Given the description of an element on the screen output the (x, y) to click on. 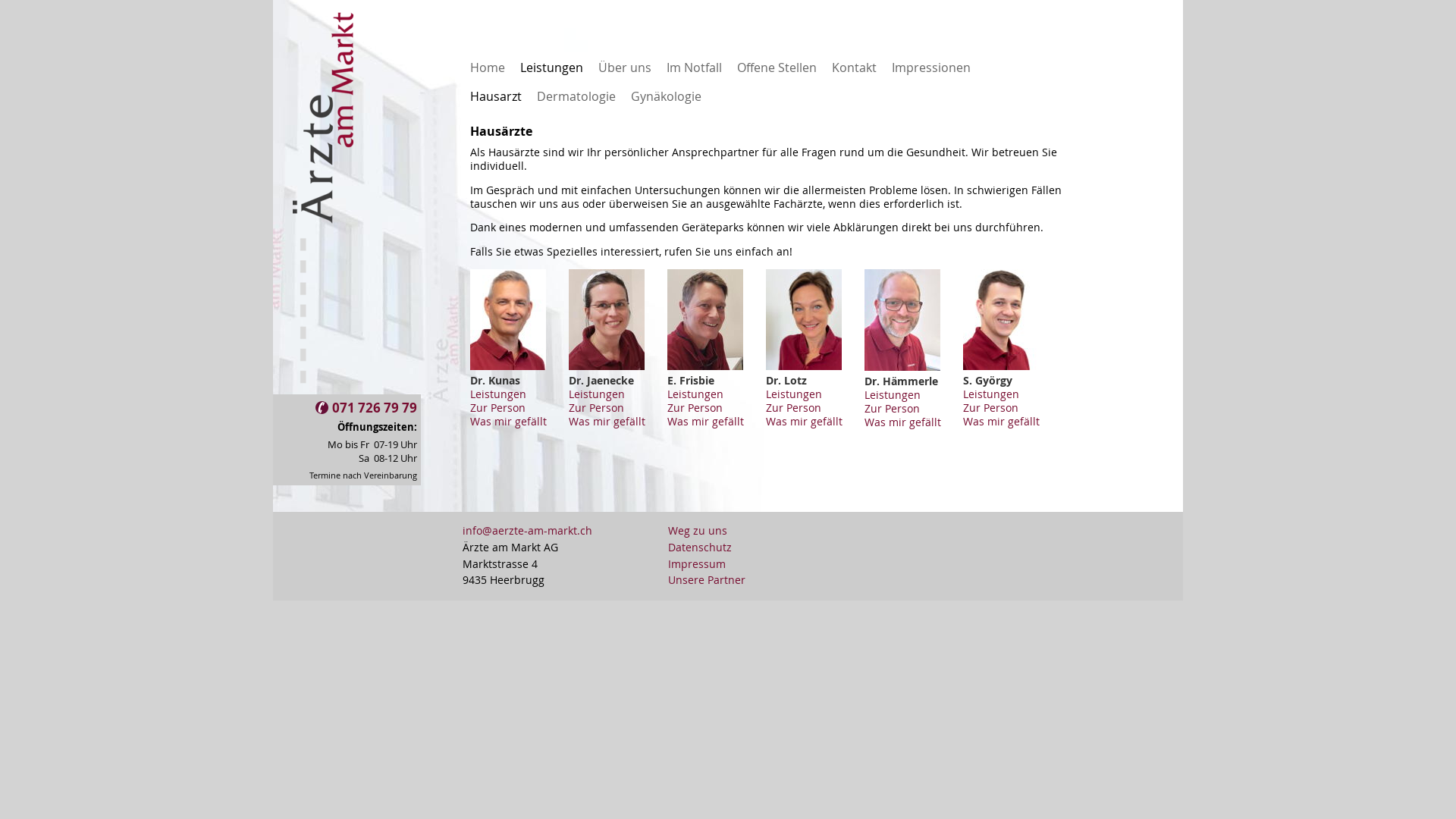
Datenschutz Element type: text (706, 547)
Weg zu uns Element type: text (706, 531)
Leistungen Element type: text (695, 394)
Offene Stellen Element type: text (776, 67)
info@aerzte-am-markt.ch Element type: text (527, 530)
Leistungen Element type: text (498, 394)
Zur Person Element type: text (497, 407)
  Element type: text (461, 103)
  Element type: text (461, 75)
Leistungen Element type: text (892, 394)
Dermatologie Element type: text (576, 96)
Zur Person Element type: text (596, 407)
Leistungen Element type: text (991, 394)
Kontakt Element type: text (854, 67)
Leistungen Element type: text (793, 394)
Leistungen Element type: text (596, 394)
Home Element type: text (487, 67)
Impressum Element type: text (706, 564)
Impressionen Element type: text (931, 67)
Zur Person Element type: text (694, 407)
Zur Person Element type: text (793, 407)
Unsere Partner Element type: text (706, 580)
Im Notfall Element type: text (693, 67)
Zur Startseite Element type: hover (322, 387)
Zur Person Element type: text (990, 407)
Zur Person Element type: text (891, 408)
